Given the description of an element on the screen output the (x, y) to click on. 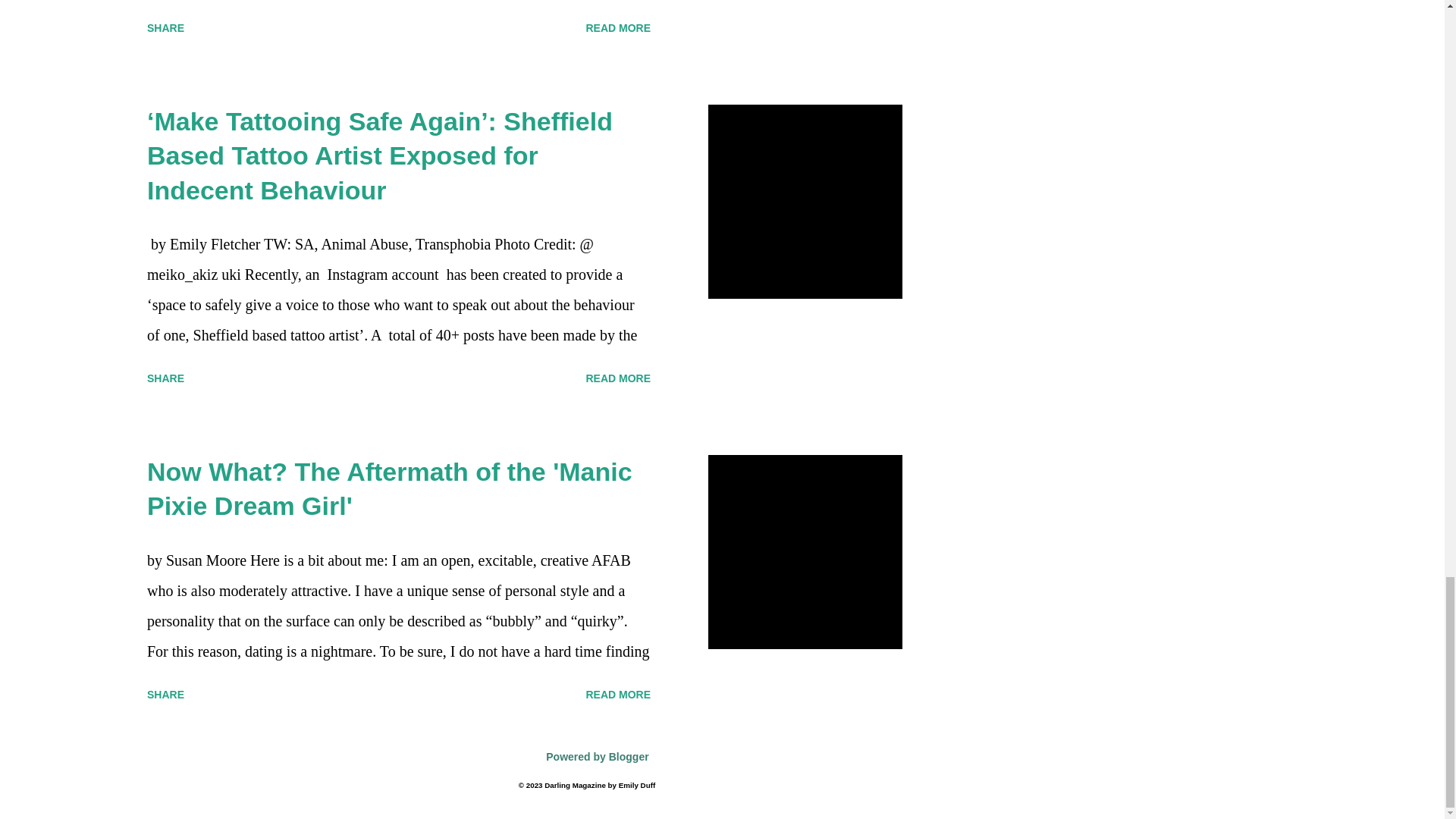
READ MORE (617, 694)
READ MORE (617, 27)
SHARE (165, 378)
SHARE (165, 27)
SHARE (165, 694)
Now What? The Aftermath of the 'Manic Pixie Dream Girl' (389, 488)
READ MORE (617, 378)
